Given the description of an element on the screen output the (x, y) to click on. 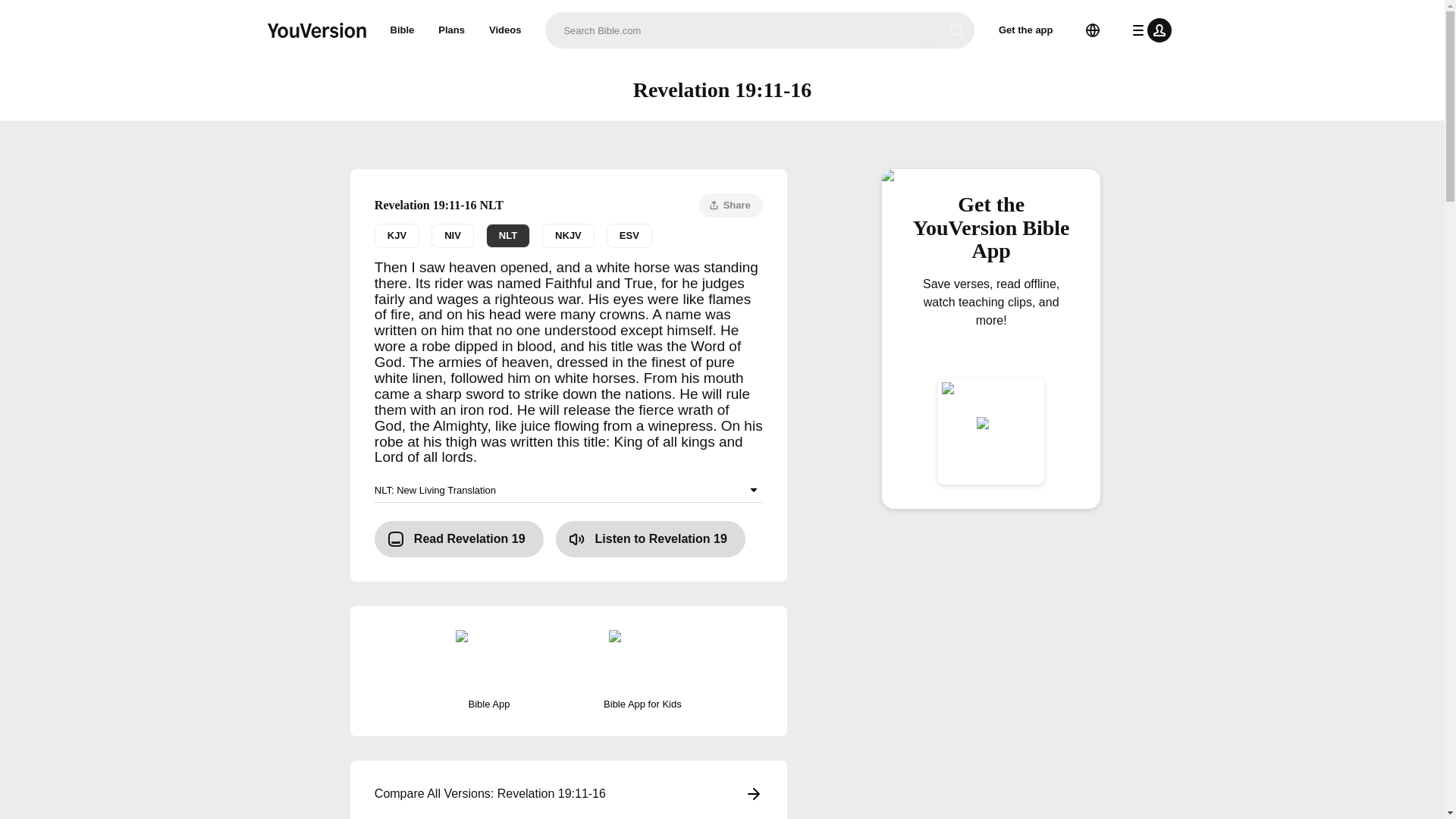
Listen to Revelation 19 (568, 235)
NKJV (650, 538)
ESV (567, 235)
Bible App for Kids (629, 235)
Bible (642, 670)
Share (401, 29)
NIV (730, 205)
NLT (452, 235)
Plans (507, 235)
Compare All Versions: Revelation 19:11-16 (451, 29)
NLT: New Living Translation (568, 793)
Videos (568, 489)
KJV (504, 29)
